Given the description of an element on the screen output the (x, y) to click on. 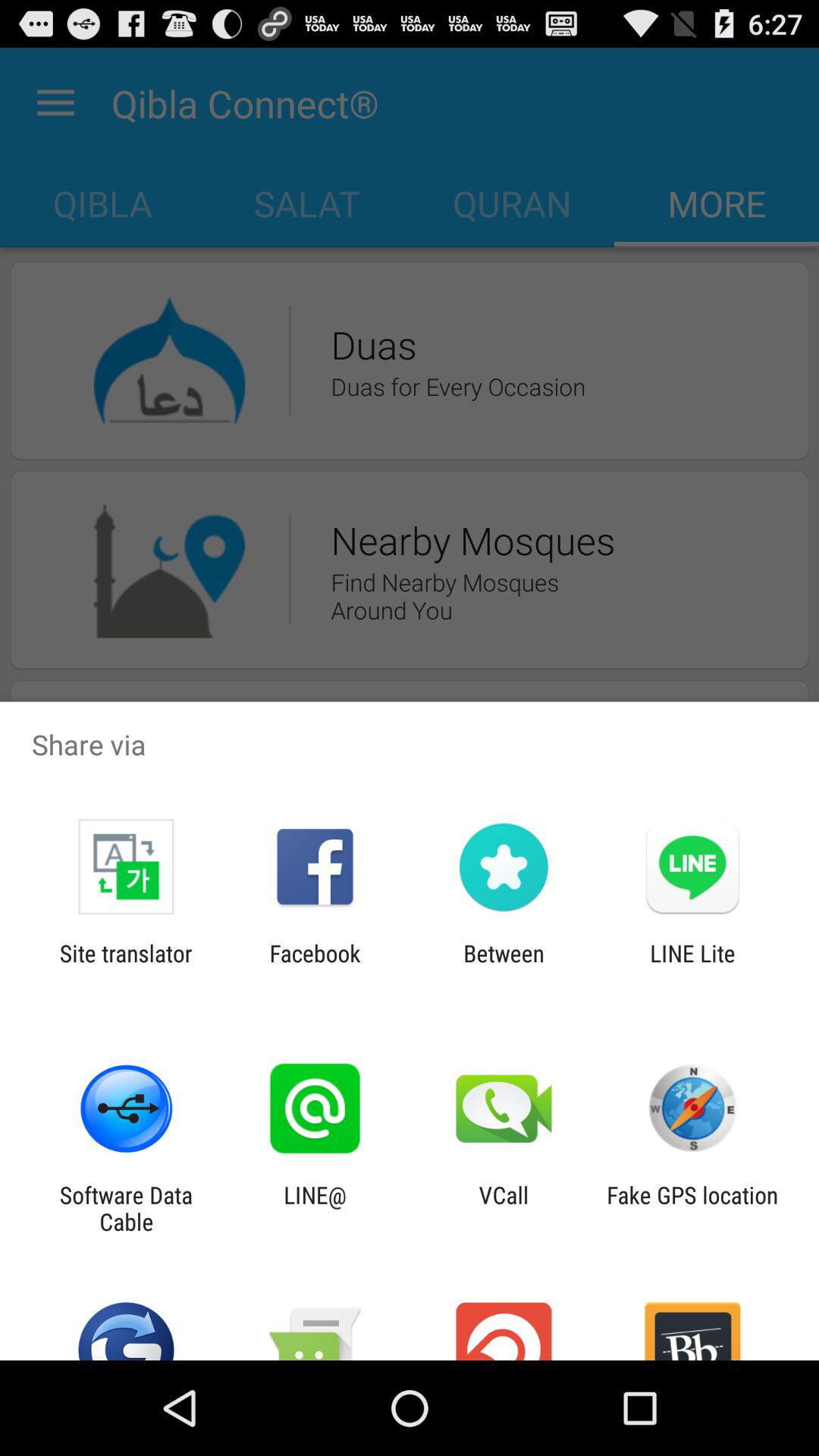
tap the site translator item (125, 966)
